Given the description of an element on the screen output the (x, y) to click on. 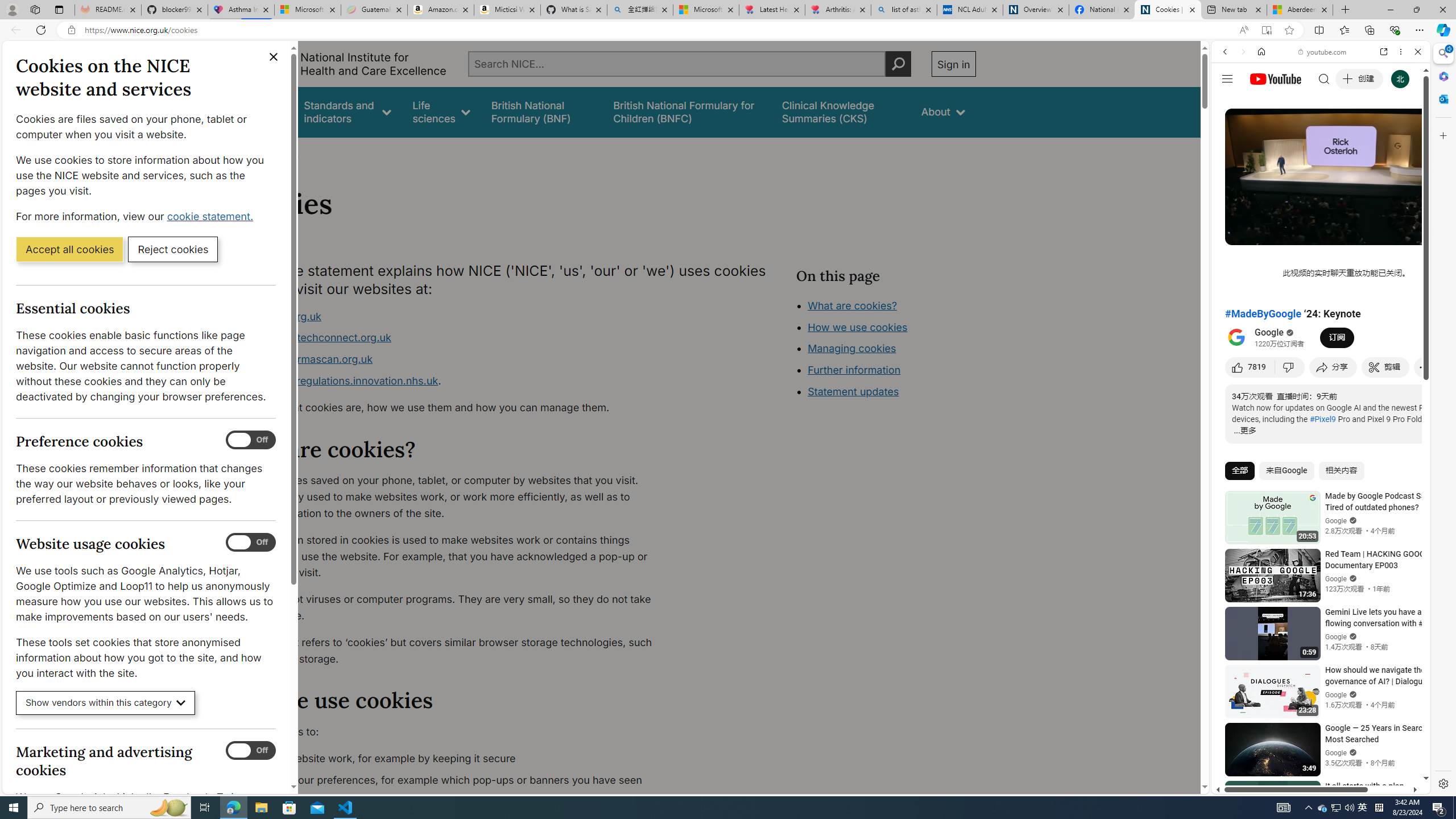
Google (1320, 281)
Preferences (1403, 129)
Google (1269, 332)
IMAGES (1262, 130)
www.ukpharmascan.org.uk (305, 359)
false (841, 111)
Search Filter, IMAGES (1262, 129)
Close Customize pane (1442, 135)
SEARCH TOOLS (1350, 130)
Class: b_serphb (1404, 130)
Asthma Inhalers: Names and Types (240, 9)
